Given the description of an element on the screen output the (x, y) to click on. 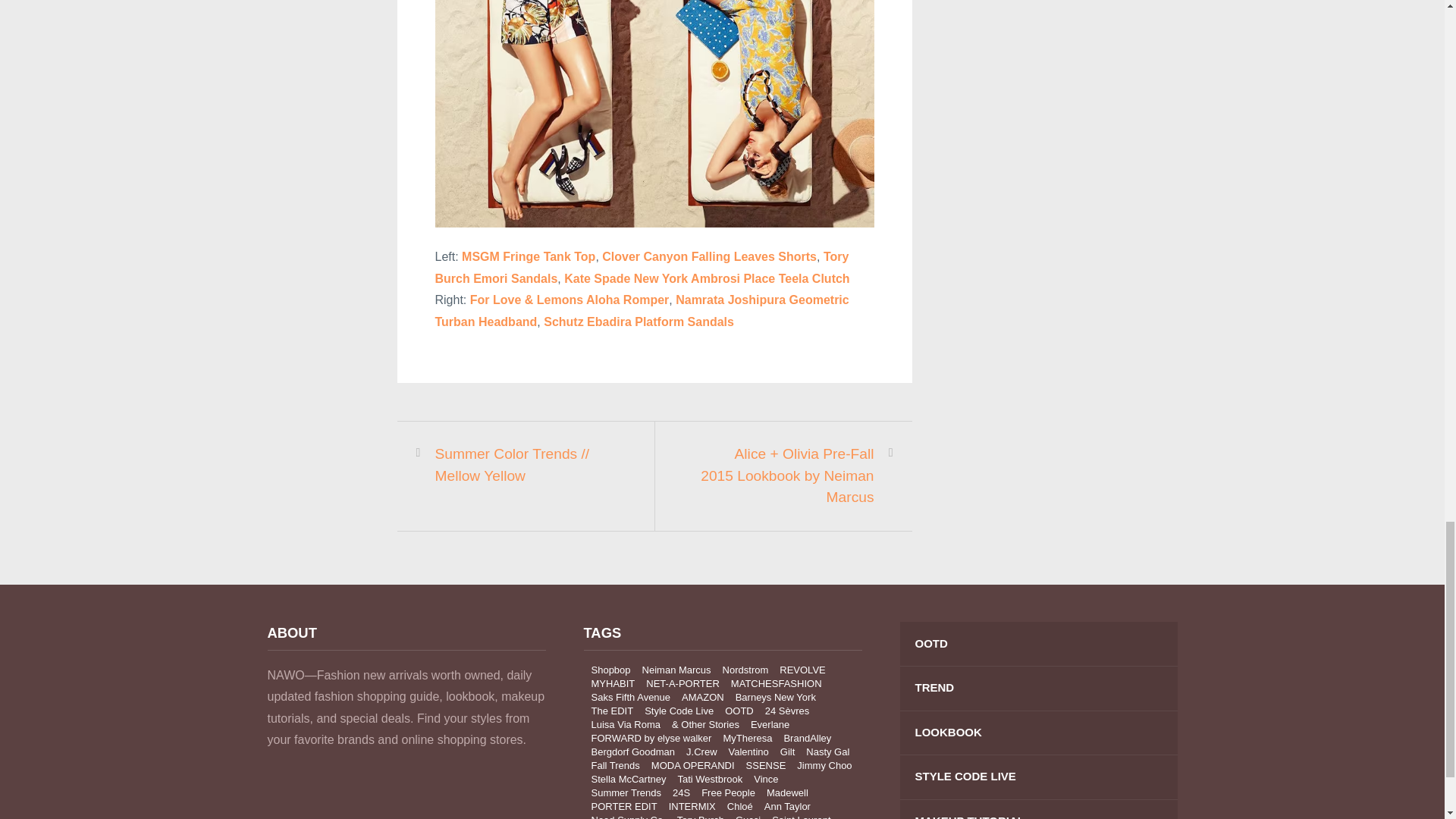
Previous (523, 464)
Kate Spade New York Ambrosi Place Teela Clutch (706, 278)
Clover Canyon Falling Leaves Shorts (709, 256)
Advertisement (1062, 29)
MSGM Fringe Tank Top (528, 256)
Tory Burch Emori Sandals (641, 267)
Next (786, 475)
